Given the description of an element on the screen output the (x, y) to click on. 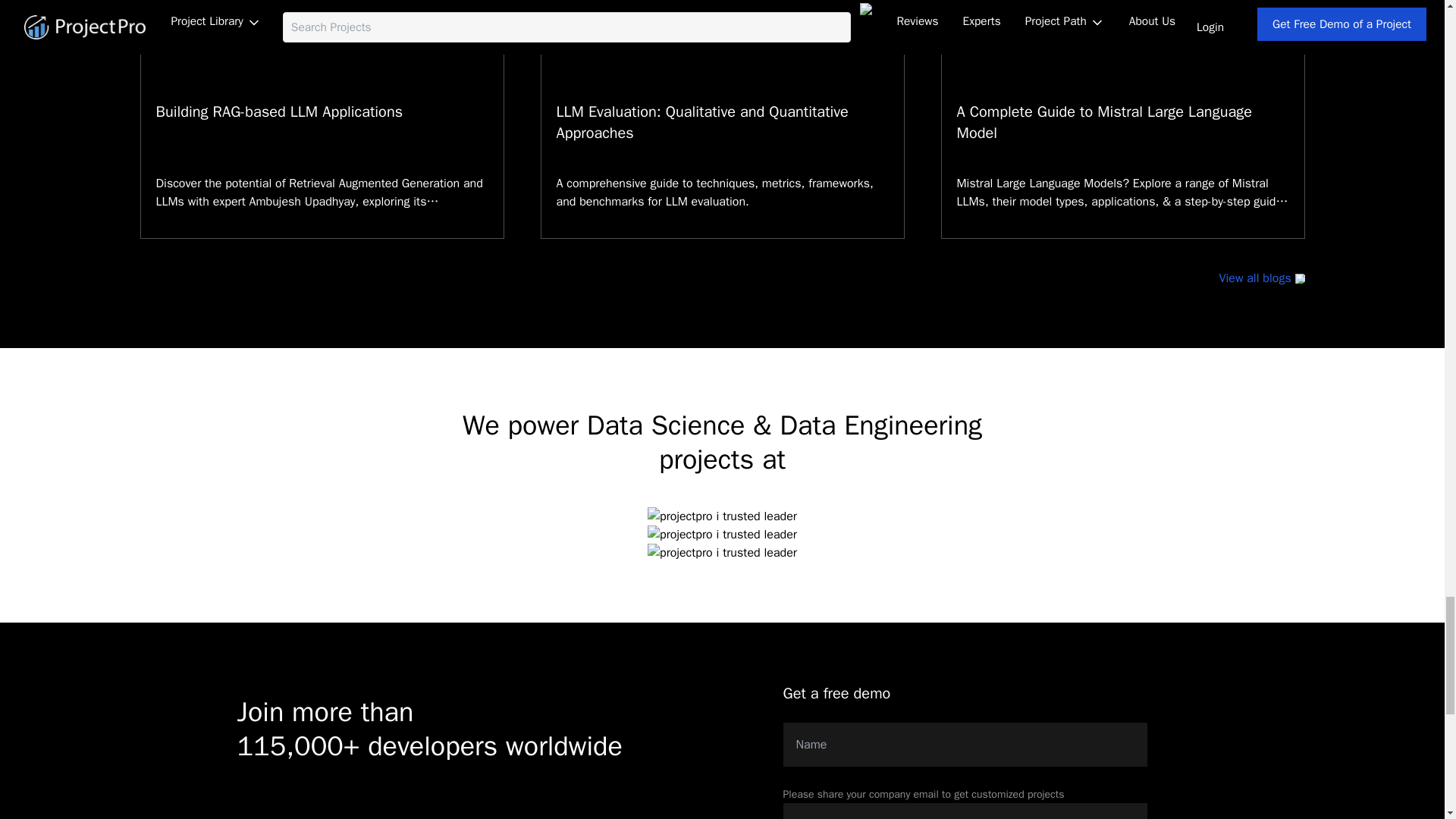
LLM Evaluation: Qualitative and Quantitative Approaches (702, 122)
LLM Evaluation: Qualitative and Quantitative Approaches (702, 122)
view all blogs (1261, 278)
Building RAG-based LLM Applications (279, 111)
A Complete Guide to Mistral Large Language Model (1104, 122)
View all blogs (1261, 278)
A Complete Guide to Mistral Large Language Model (1104, 122)
Building RAG-based LLM Applications (279, 111)
